Given the description of an element on the screen output the (x, y) to click on. 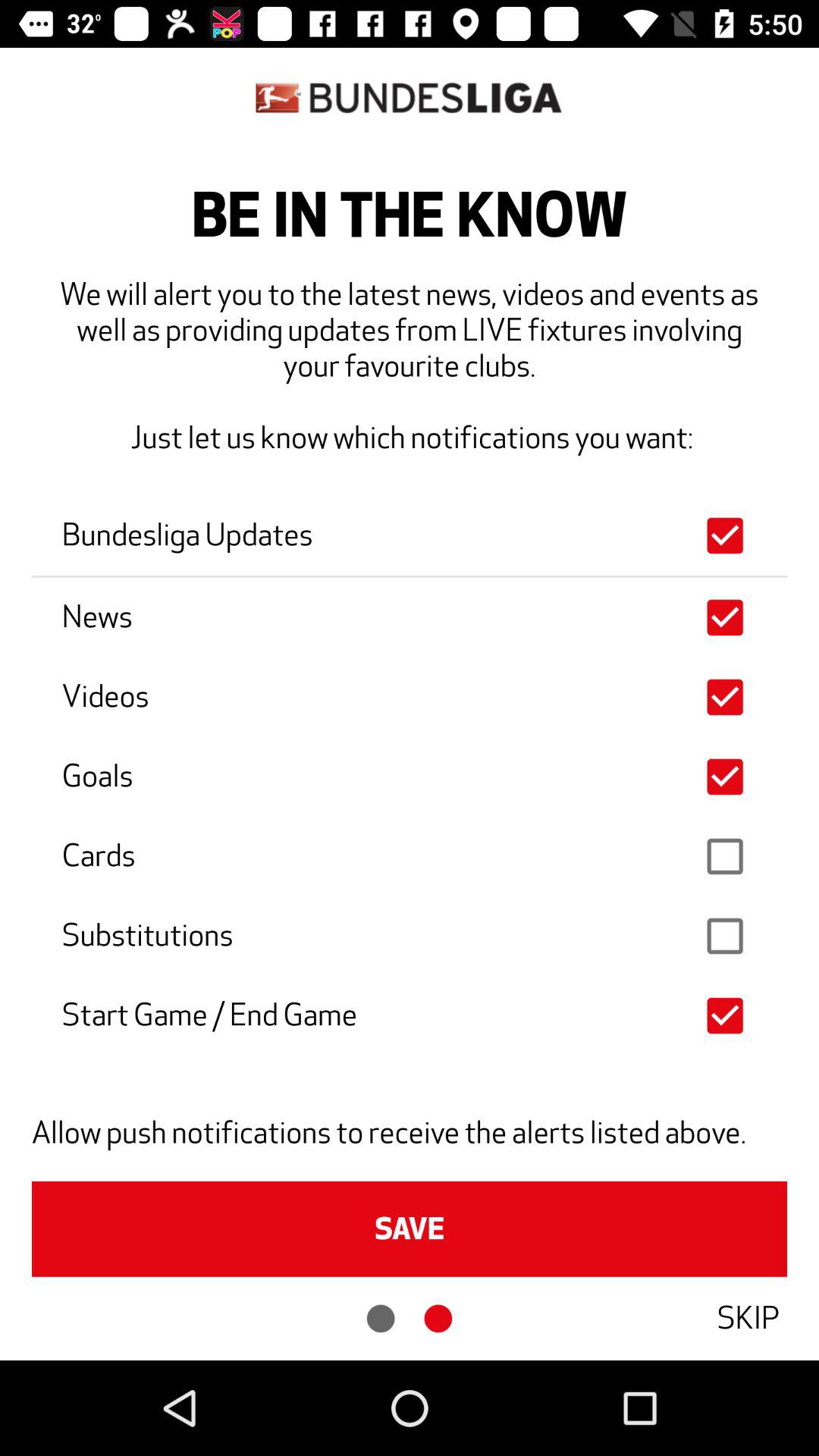
jump until the save icon (409, 1228)
